Given the description of an element on the screen output the (x, y) to click on. 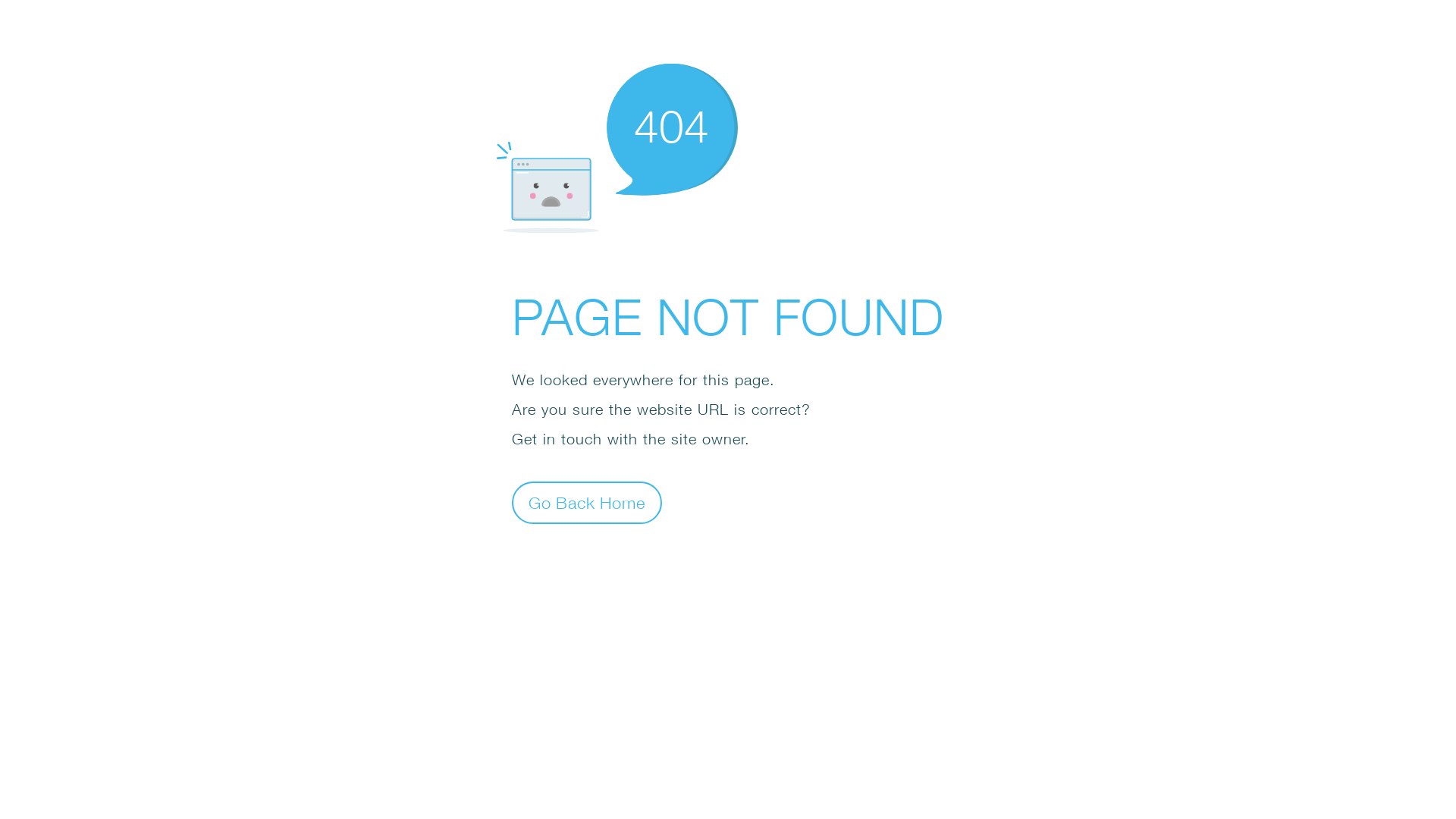
Go Back Home Element type: text (586, 502)
